Given the description of an element on the screen output the (x, y) to click on. 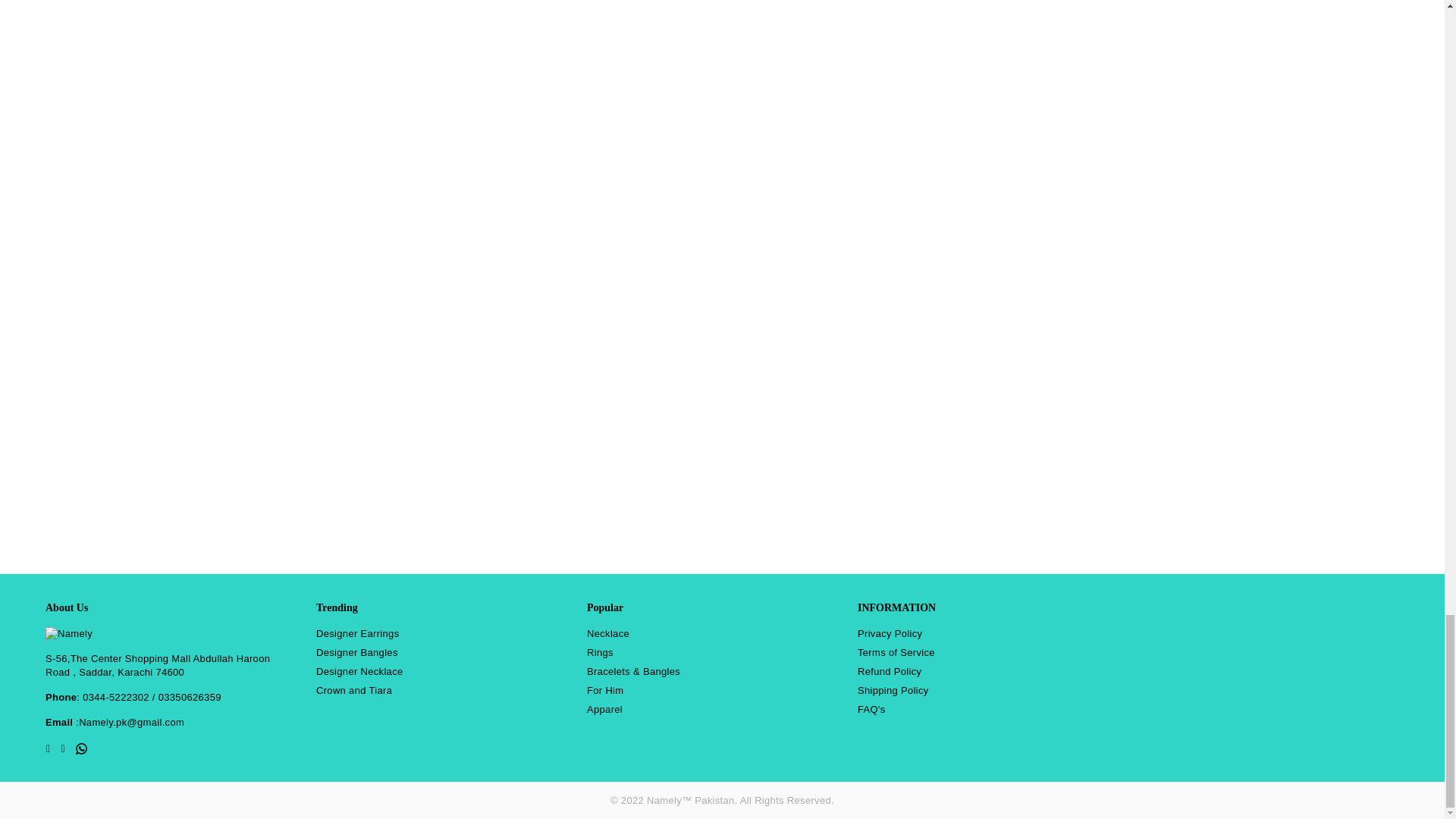
Namely on Facebook (47, 748)
Namely on Instagram (62, 748)
Namely on Whatsapp (81, 748)
